Given the description of an element on the screen output the (x, y) to click on. 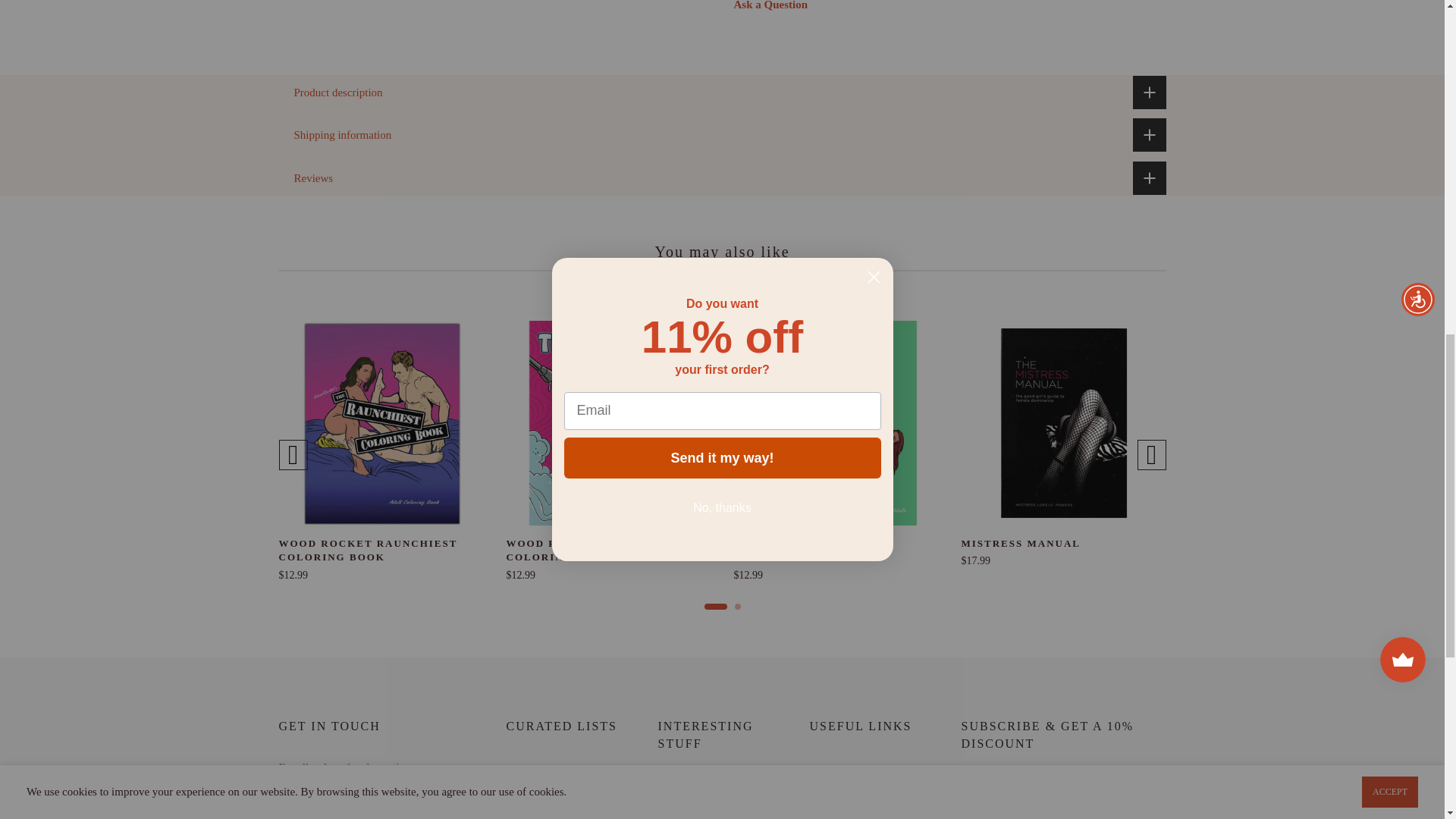
1 (1001, 35)
